Given the description of an element on the screen output the (x, y) to click on. 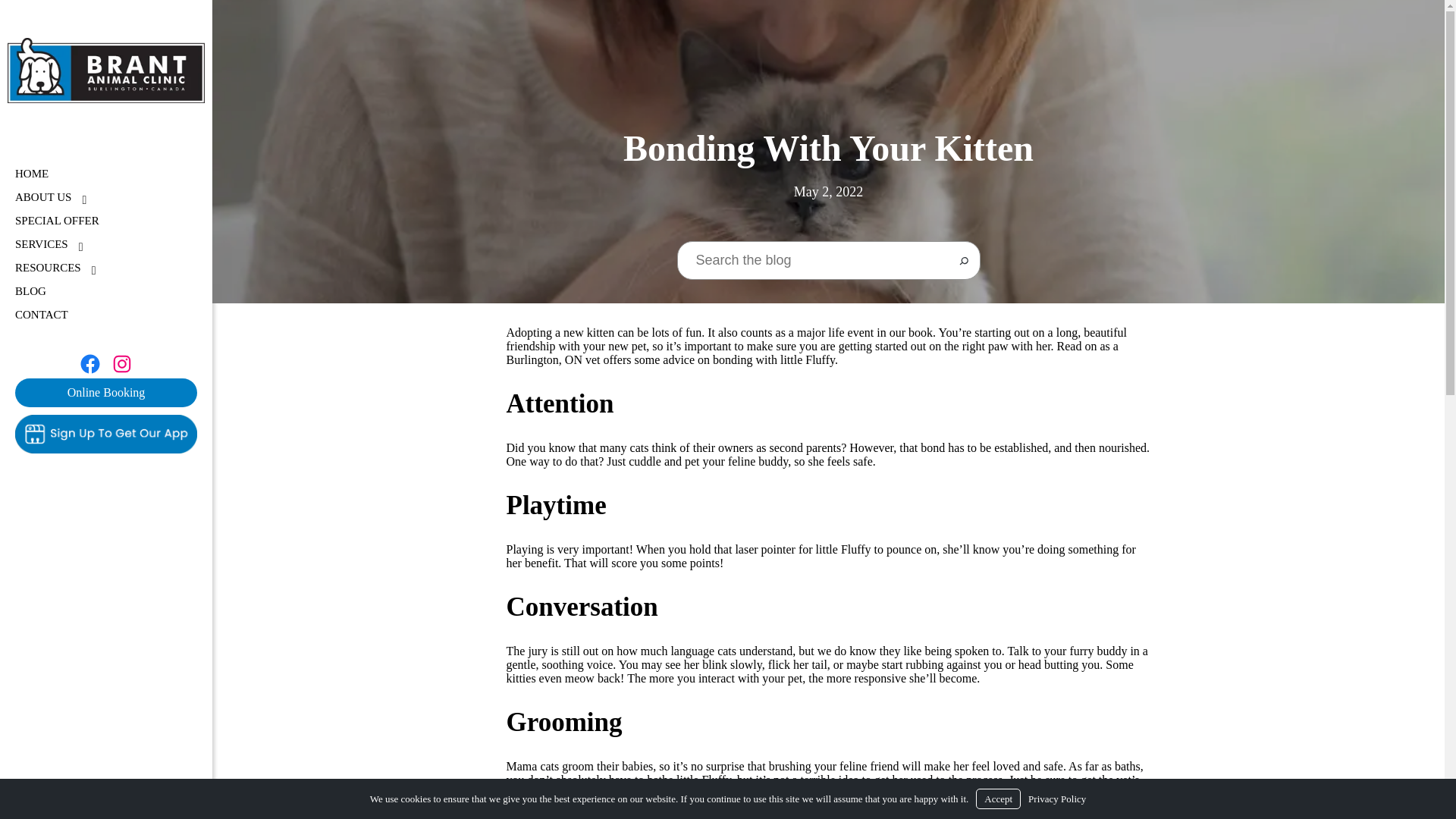
HOME (31, 173)
Instagram (121, 363)
RESOURCES (47, 267)
Online Booking (106, 244)
Facebook (105, 392)
SERVICES (89, 363)
CONTACT (41, 244)
ABOUT US (41, 314)
BLOG (42, 196)
SPECIAL OFFER (30, 291)
